Given the description of an element on the screen output the (x, y) to click on. 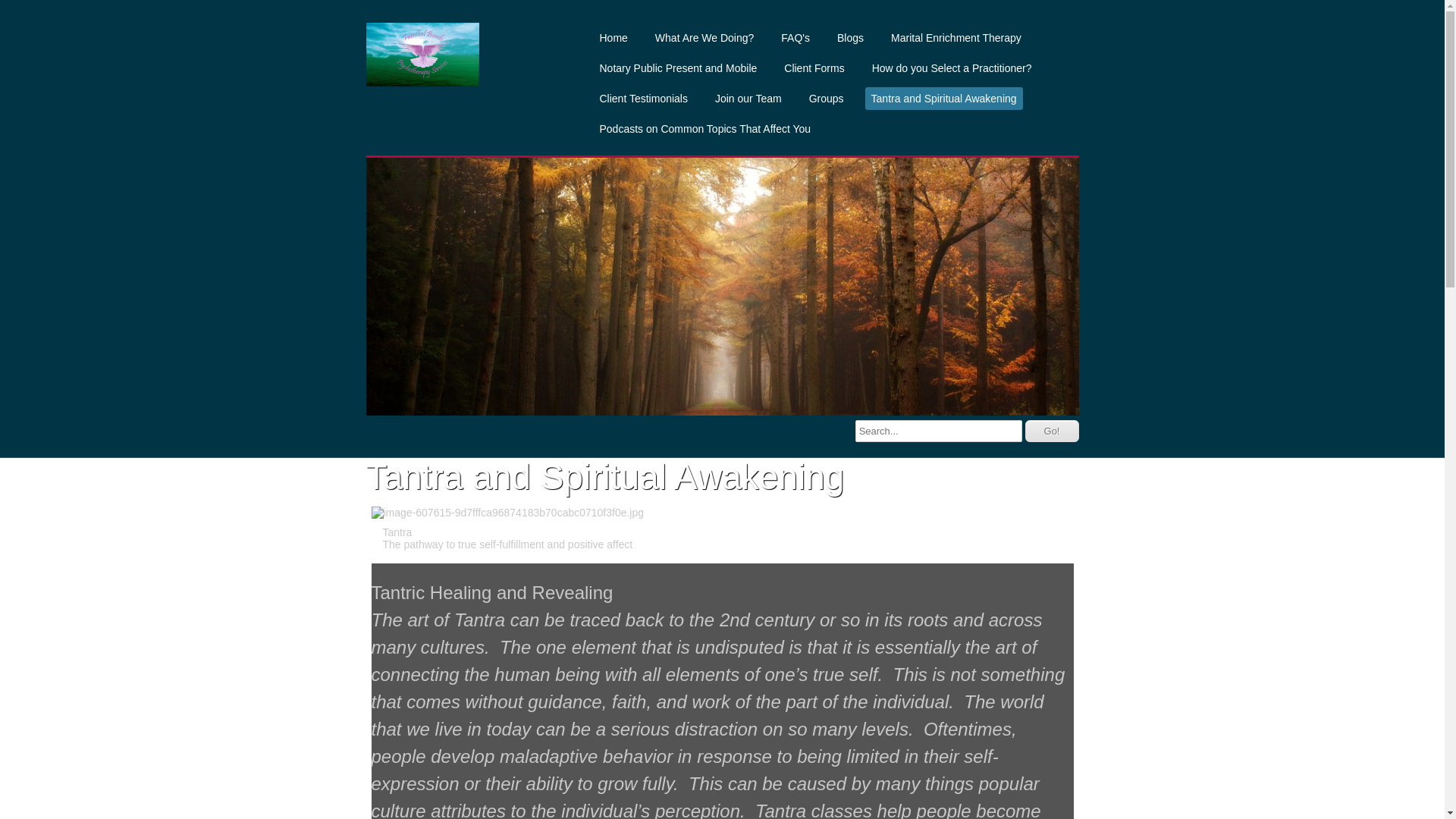
Notary Public Present and Mobile Element type: text (677, 67)
Client Forms Element type: text (814, 67)
Marital Enrichment Therapy Element type: text (955, 37)
How do you Select a Practitioner? Element type: text (952, 67)
Client Testimonials Element type: text (643, 98)
Go! Element type: text (1052, 431)
What Are We Doing? Element type: text (704, 37)
Blogs Element type: text (850, 37)
Groups Element type: text (826, 98)
Podcasts on Common Topics That Affect You Element type: text (704, 128)
Join our Team Element type: text (748, 98)
FAQ's Element type: text (795, 37)
Tantra and Spiritual Awakening Element type: text (943, 98)
Home Element type: text (613, 37)
